Given the description of an element on the screen output the (x, y) to click on. 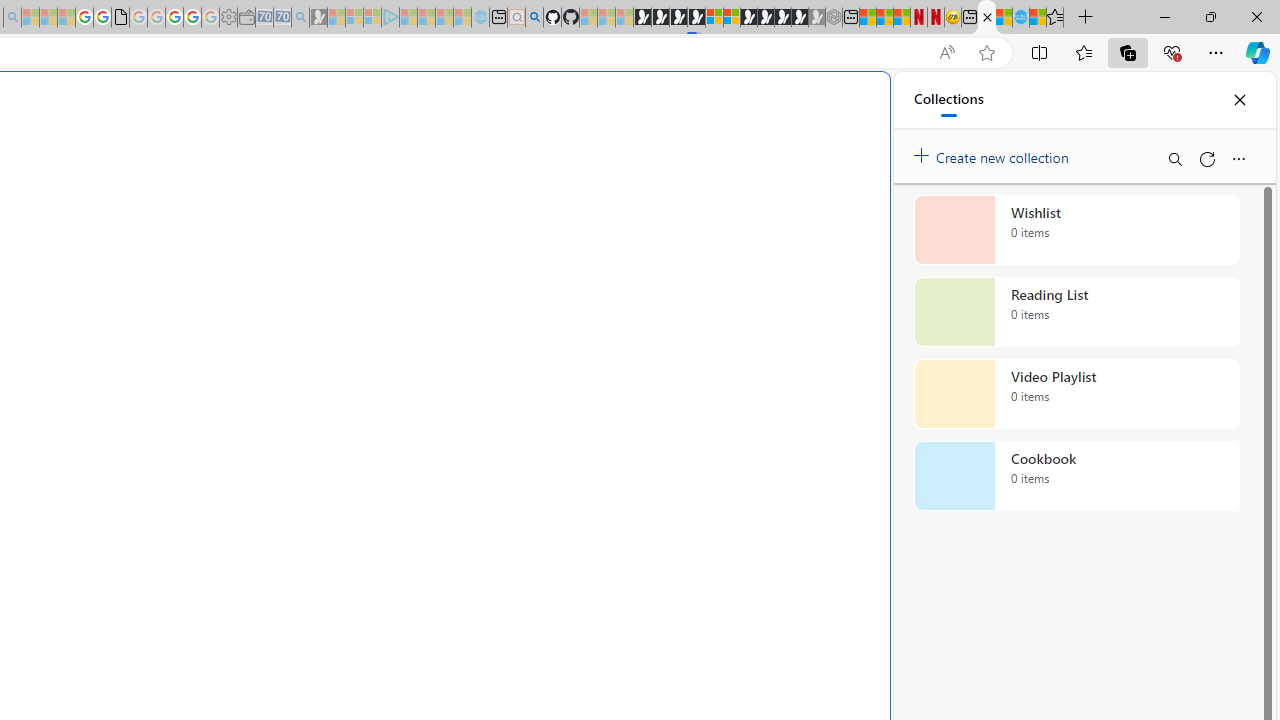
Cookbook collection, 0 items (1076, 475)
Close split screen (844, 102)
